Given the description of an element on the screen output the (x, y) to click on. 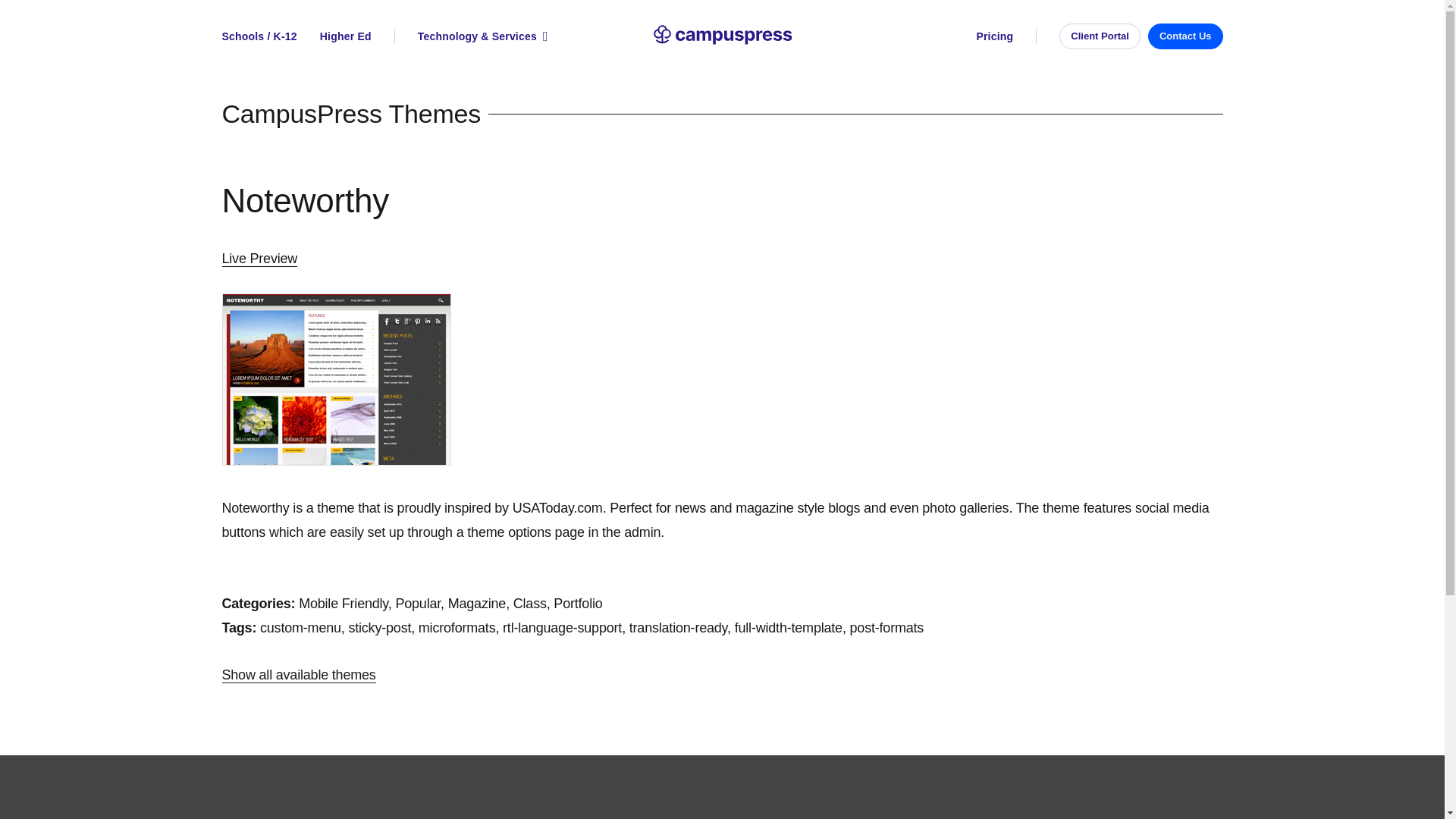
Contact Us (1185, 35)
Link to CampusPress Home (722, 35)
Pricing (1005, 36)
Client Portal (1099, 35)
Show all available themes (298, 675)
Higher Ed (345, 36)
Live Preview (259, 258)
